Given the description of an element on the screen output the (x, y) to click on. 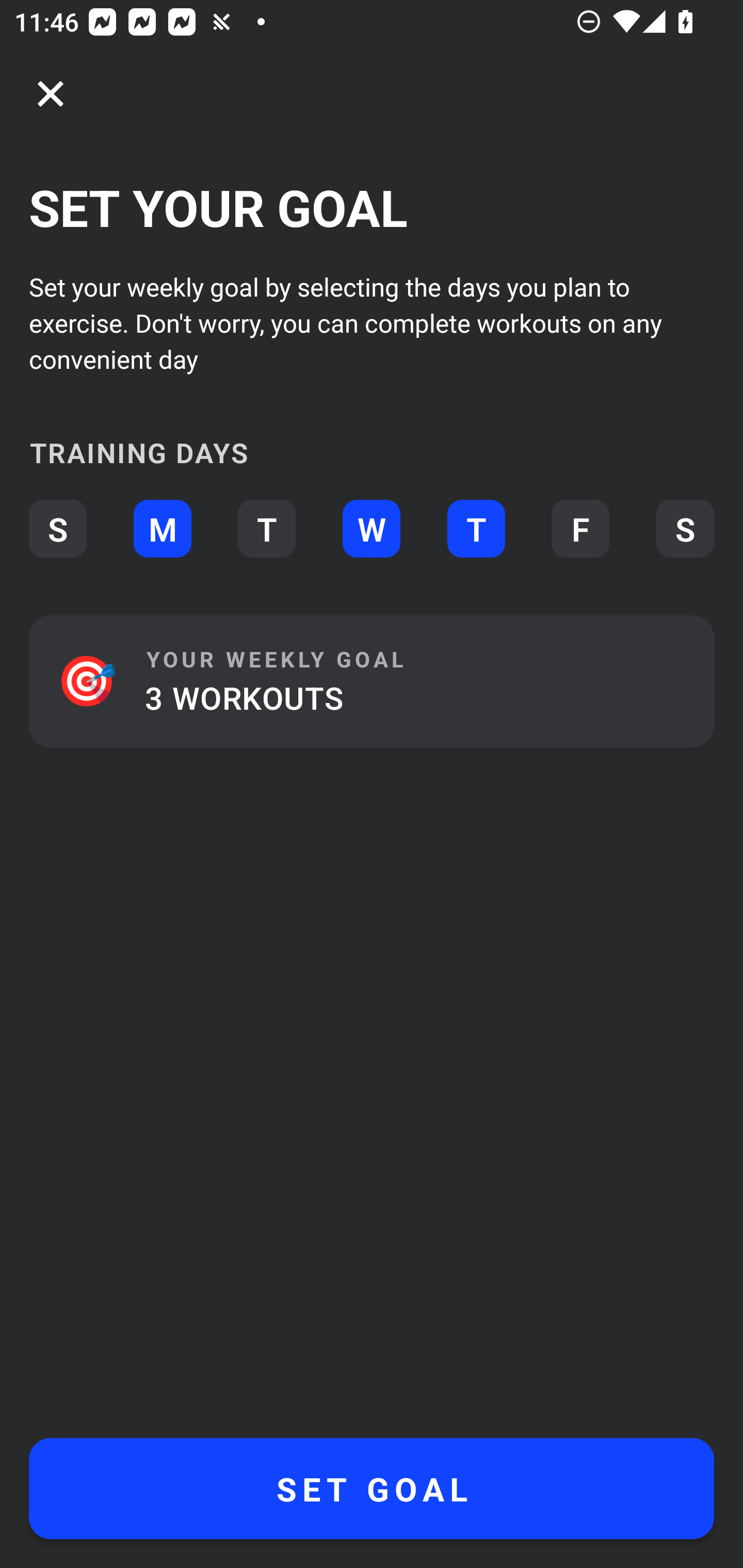
Back Icon (50, 93)
S (57, 529)
M (161, 529)
T (266, 529)
W (371, 529)
T (476, 529)
F (580, 529)
S (684, 529)
SET GOAL (371, 1488)
